Given the description of an element on the screen output the (x, y) to click on. 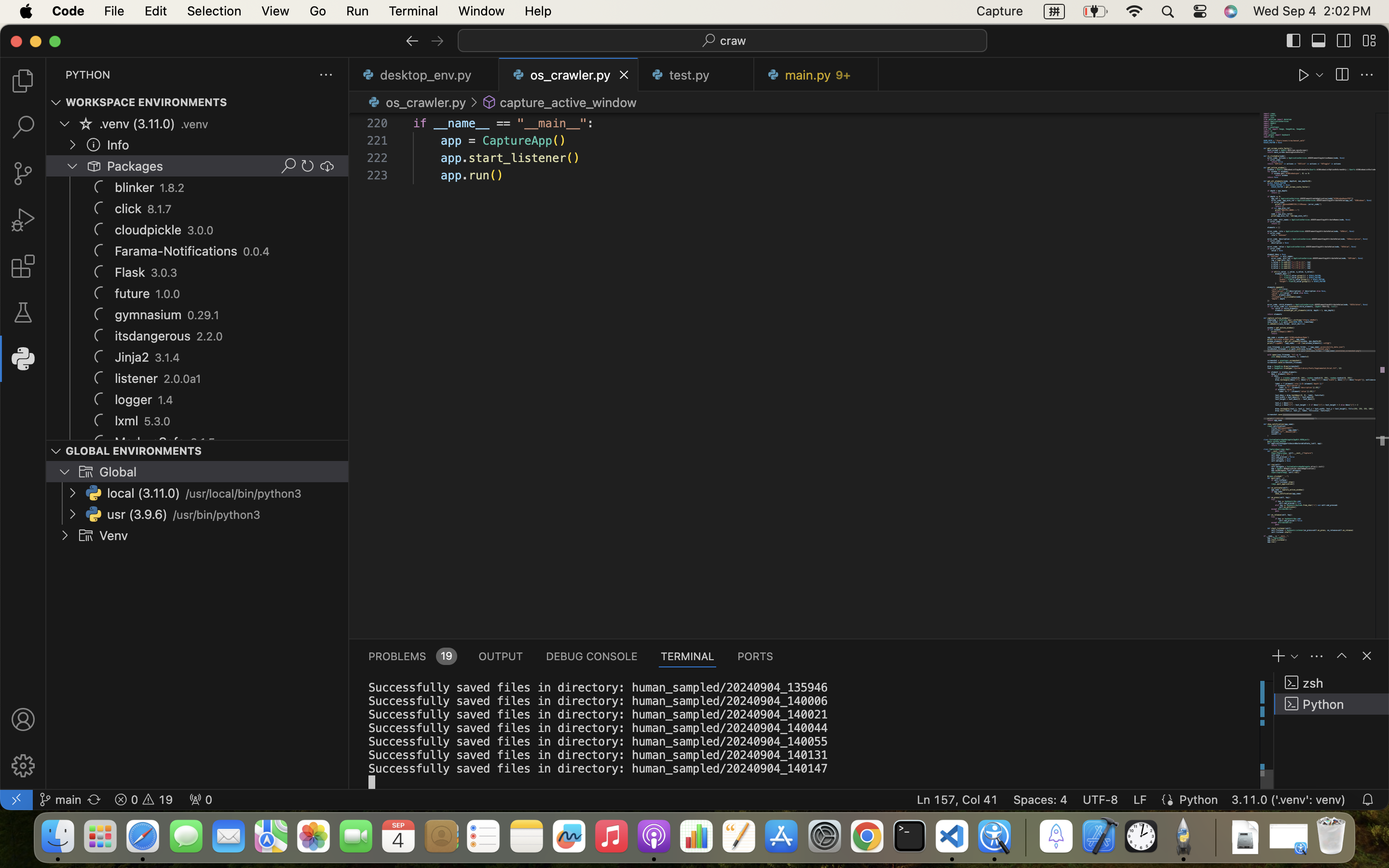
usr (3.9.6) Element type: AXStaticText (137, 514)
 Element type: AXGroup (23, 312)
 Element type: AXGroup (23, 765)
 Element type: AXButton (412, 40)
 Element type: AXCheckBox (1344, 40)
